Given the description of an element on the screen output the (x, y) to click on. 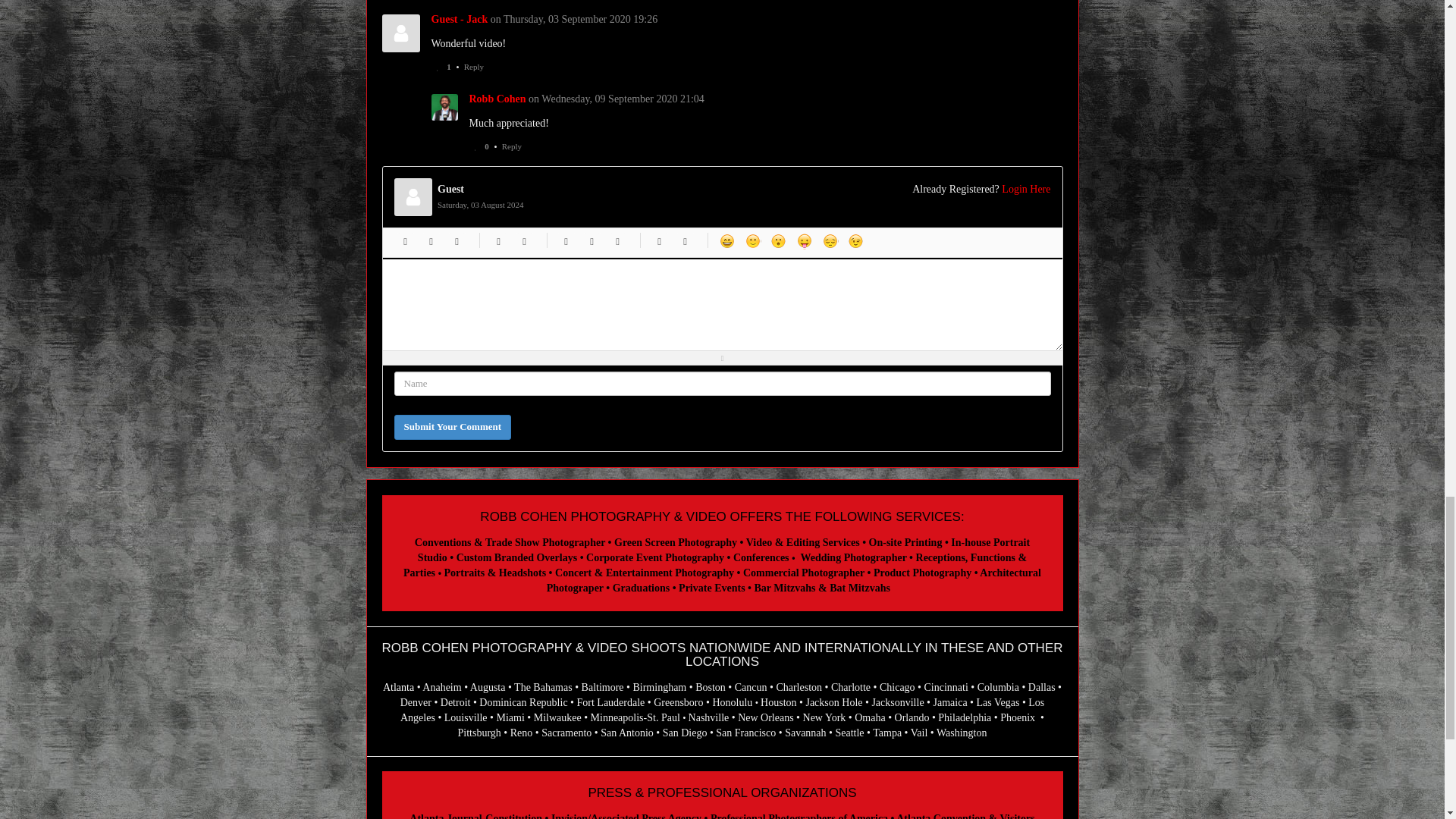
Robb Cohen (496, 98)
Guest (400, 33)
Robb Cohen (443, 107)
Guest (458, 19)
